Given the description of an element on the screen output the (x, y) to click on. 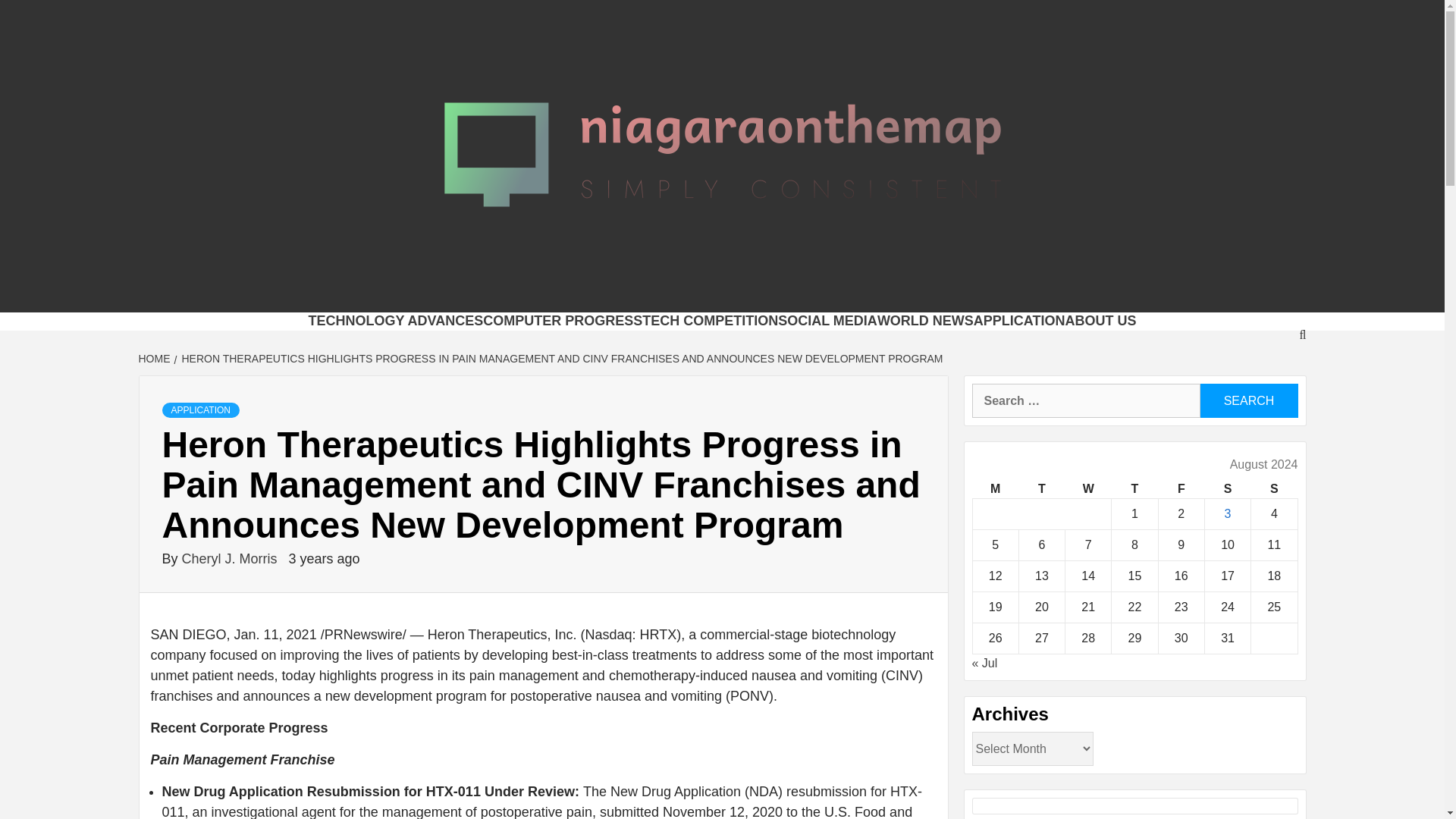
APPLICATION (1019, 320)
TECHNOLOGY ADVANCES (395, 320)
APPLICATION (200, 409)
Sunday (1273, 488)
Monday (994, 488)
Friday (1180, 488)
HOME (155, 358)
NIAGARAONTHEMAP (535, 292)
Tuesday (1040, 488)
COMPUTER PROGRESS (562, 320)
